Given the description of an element on the screen output the (x, y) to click on. 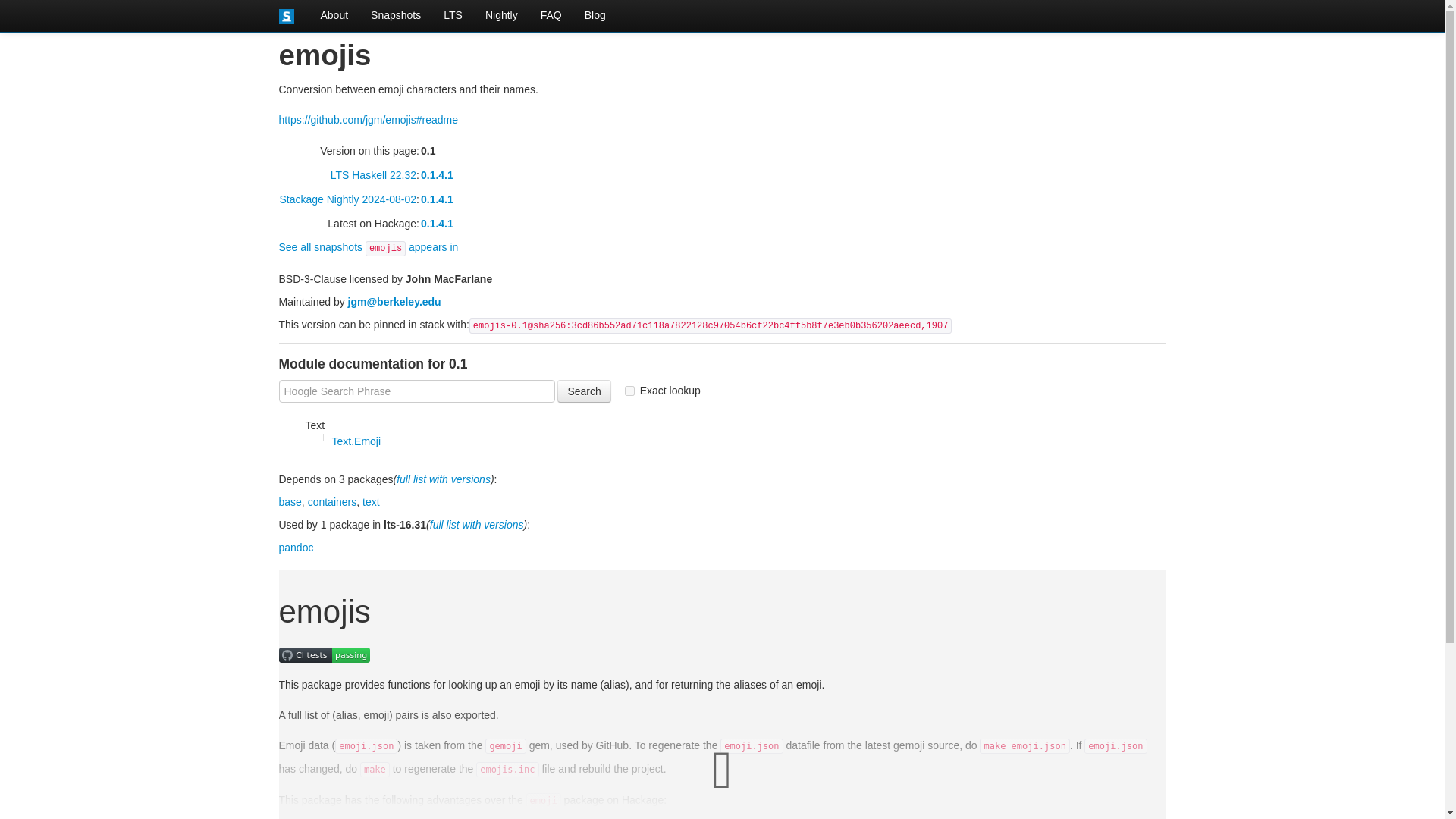
About (333, 15)
Nightly (501, 15)
Only find identifiers matching your search term precisely (662, 390)
pandoc (296, 547)
LTS (453, 15)
full list with versions (443, 479)
Search (583, 391)
0.1.4.1 (436, 174)
Search (583, 391)
0.1.4.1 (436, 223)
